Given the description of an element on the screen output the (x, y) to click on. 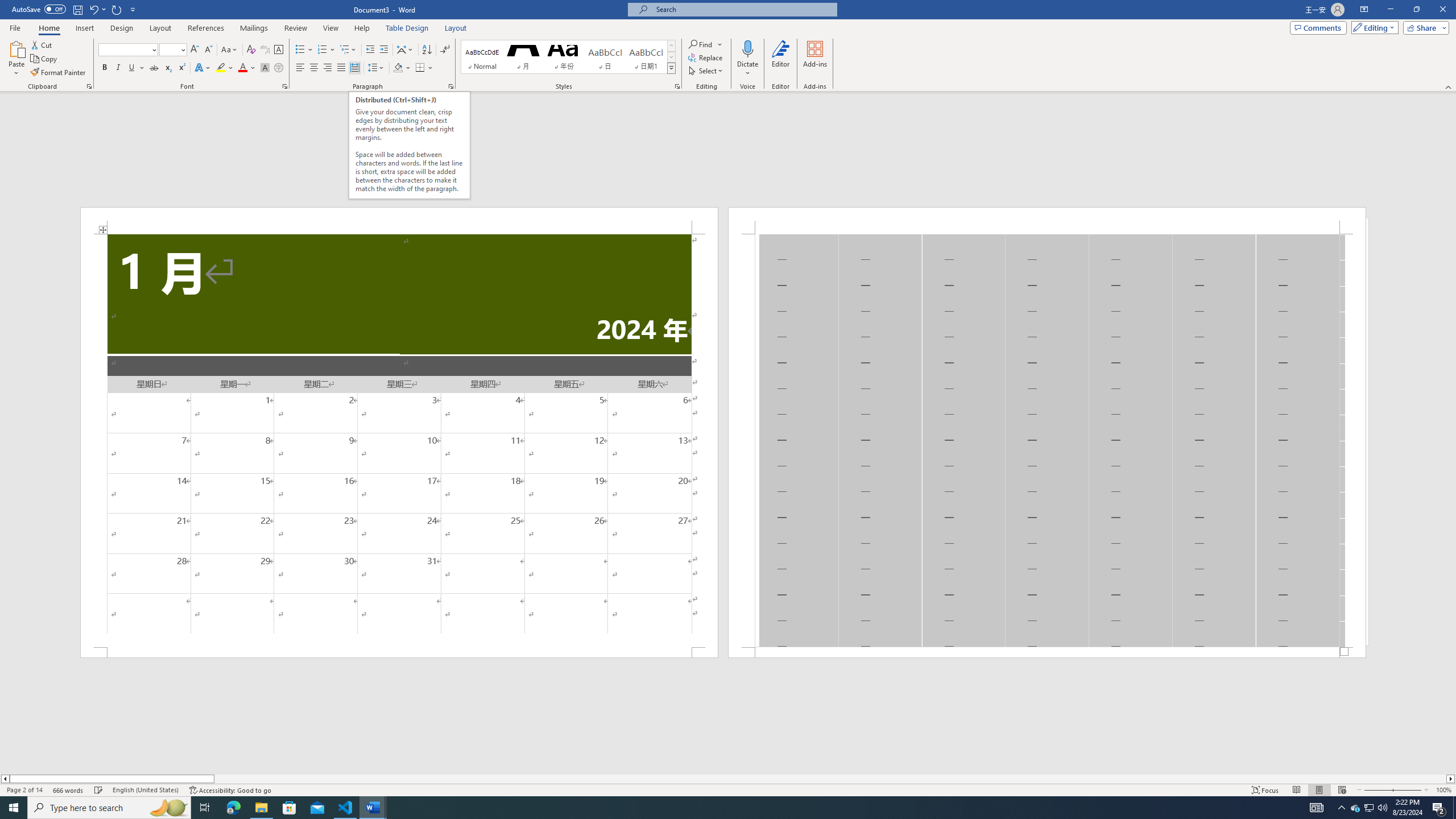
Footer -Section 1- (1046, 652)
Undo Apply Quick Style (96, 9)
